Given the description of an element on the screen output the (x, y) to click on. 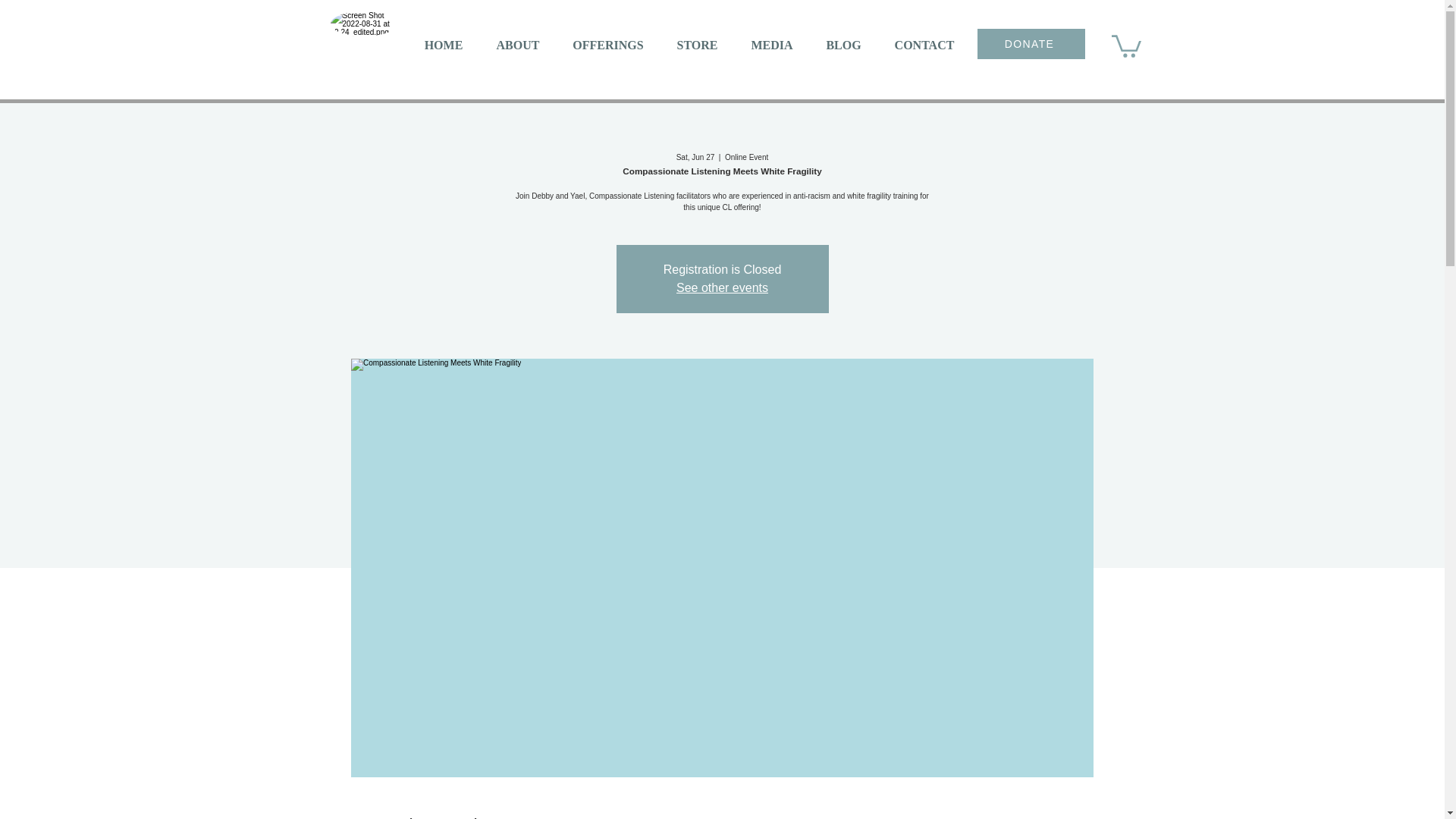
MEDIA (771, 44)
See other events (722, 287)
STORE (696, 44)
DONATE (1030, 43)
OFFERINGS (608, 44)
HOME (443, 44)
BLOG (843, 44)
CONTACT (924, 44)
